Given the description of an element on the screen output the (x, y) to click on. 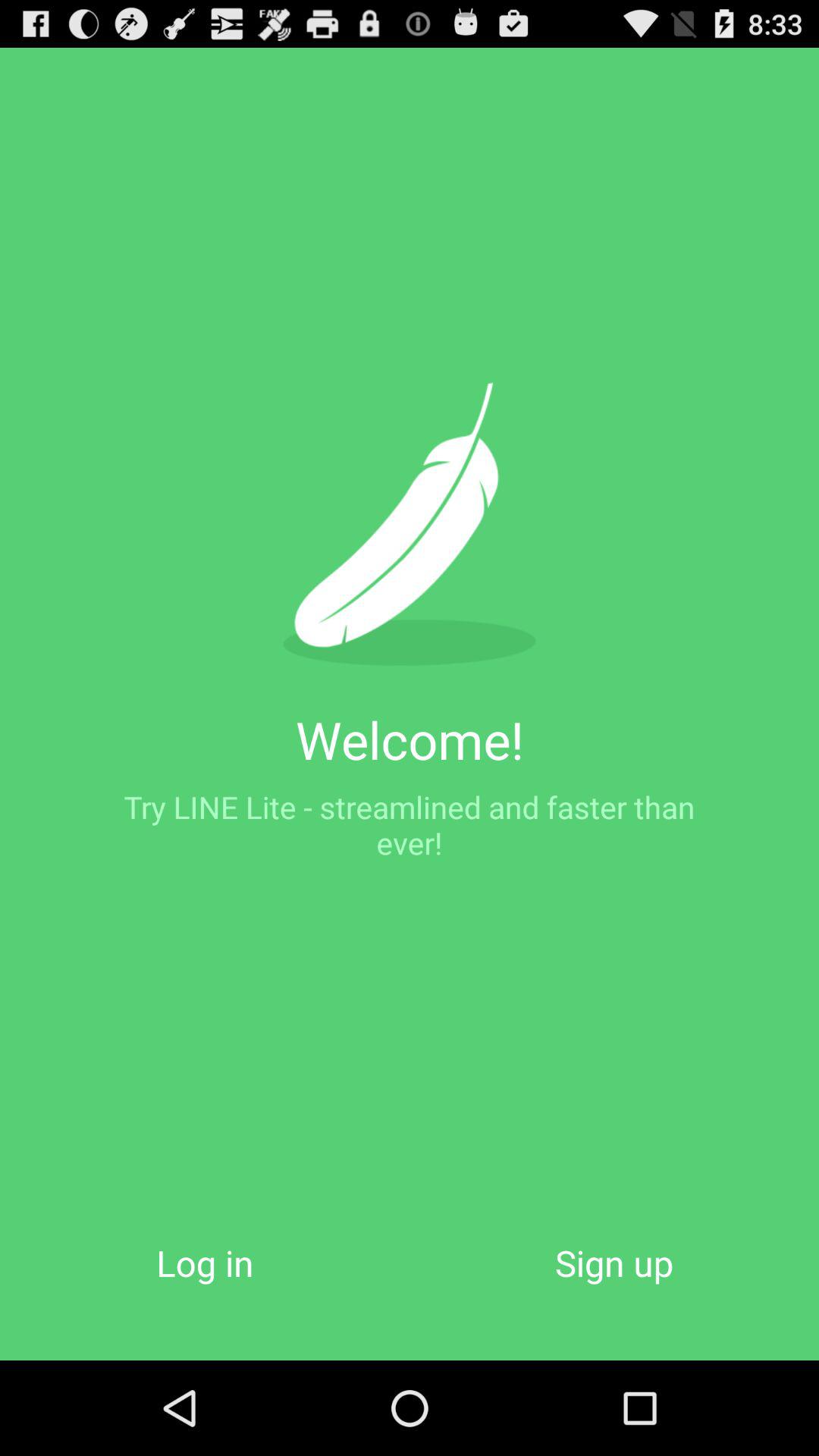
open the log in icon (204, 1262)
